Given the description of an element on the screen output the (x, y) to click on. 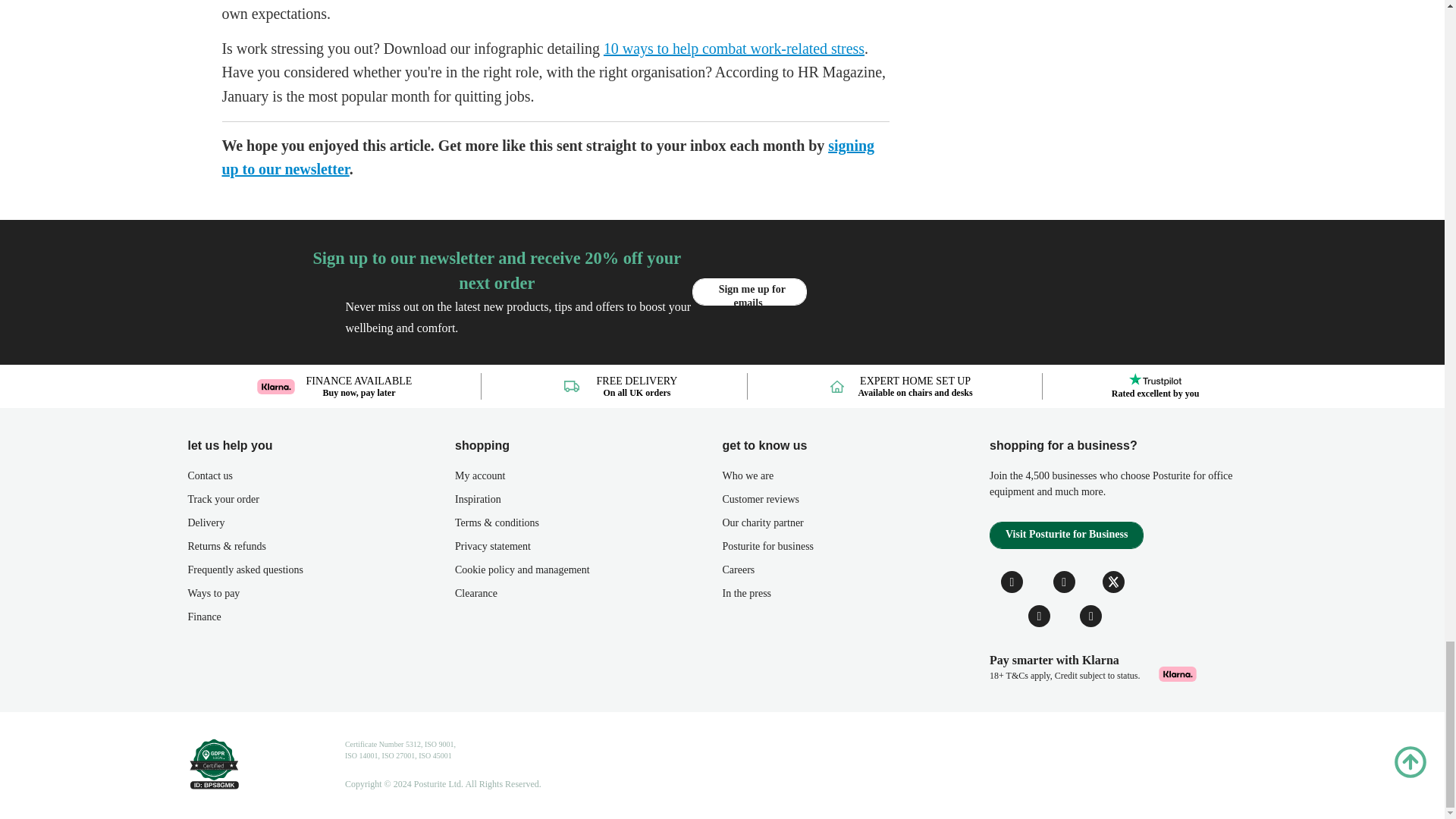
Track your order (321, 503)
Who we are (856, 479)
Privacy statement (588, 549)
Clearance (588, 597)
Frequently asked questions (321, 573)
Cookie policy and management (588, 573)
Finance (321, 620)
Inspiration (588, 503)
My account (588, 479)
Contact us (321, 479)
